Given the description of an element on the screen output the (x, y) to click on. 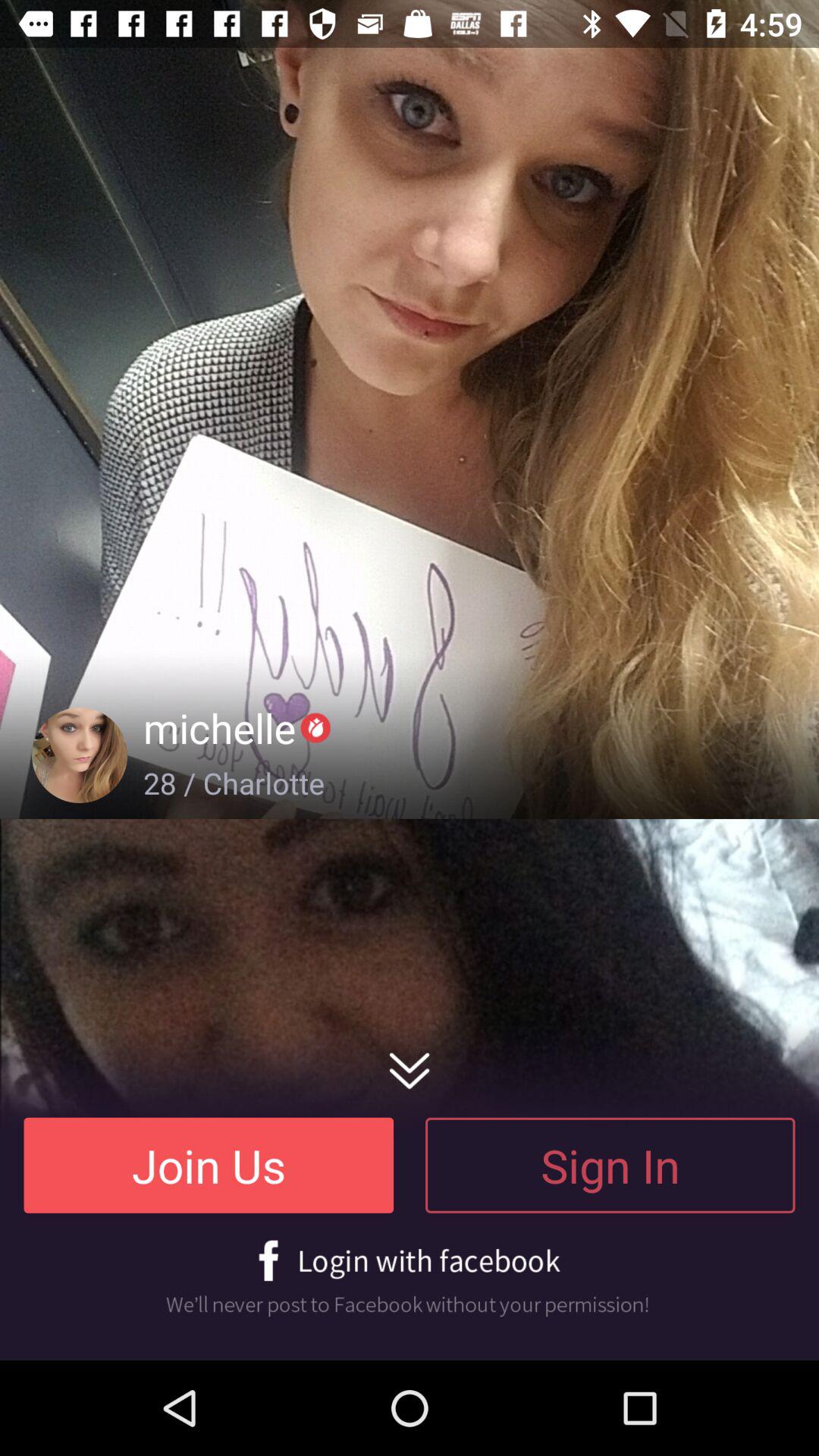
press the sign in at the bottom right corner (610, 1165)
